Given the description of an element on the screen output the (x, y) to click on. 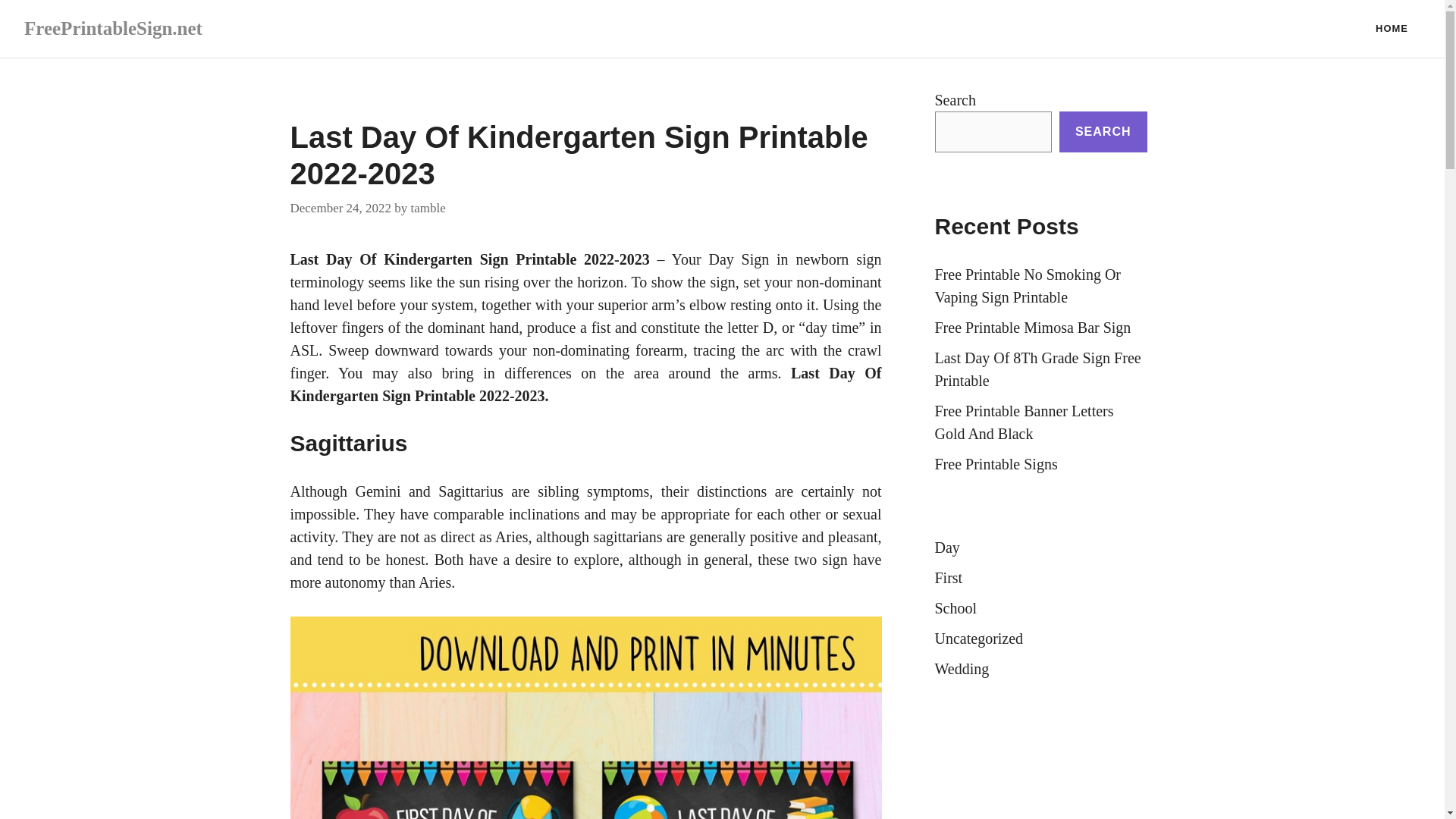
SEARCH (1103, 131)
Free Printable Mimosa Bar Sign (1032, 327)
Day (946, 547)
Free Printable Banner Letters Gold And Black (1023, 422)
View all posts by tamble (427, 206)
Last Day Of Kindergarten Sign Printable 2022-2023 (469, 258)
Uncategorized (978, 638)
FreePrintableSign.net (113, 28)
School (955, 607)
HOME (1391, 28)
Free Printable No Smoking Or Vaping Sign Printable (1027, 285)
First (948, 577)
Last Day Of 8Th Grade Sign Free Printable (1037, 369)
Wedding (961, 668)
Free Printable Signs (995, 463)
